Given the description of an element on the screen output the (x, y) to click on. 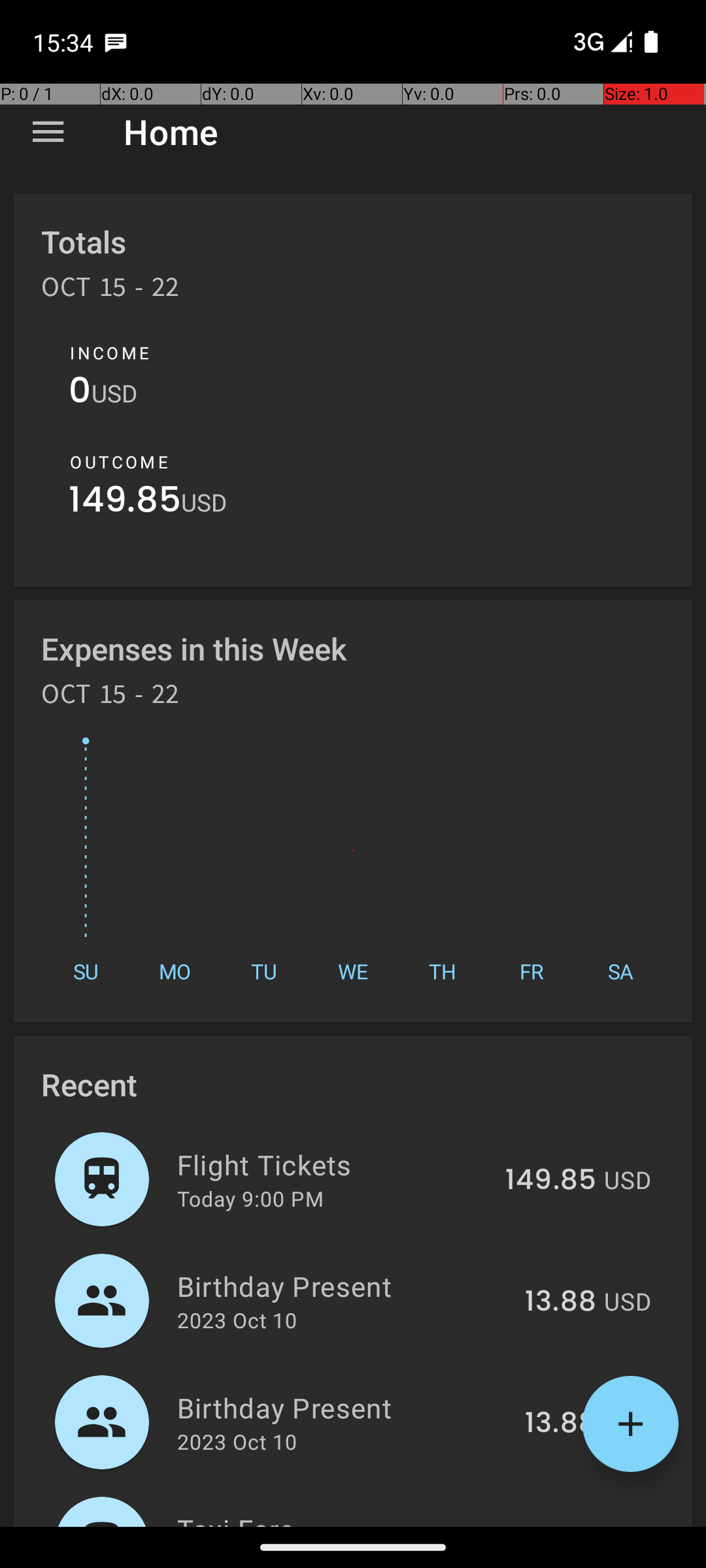
149.85 Element type: android.widget.TextView (124, 502)
Flight Tickets Element type: android.widget.TextView (333, 1164)
Today 9:00 PM Element type: android.widget.TextView (250, 1198)
Birthday Present Element type: android.widget.TextView (343, 1285)
2023 Oct 10 Element type: android.widget.TextView (236, 1320)
13.88 Element type: android.widget.TextView (560, 1301)
Taxi Fare Element type: android.widget.TextView (338, 1518)
148.31 Element type: android.widget.TextView (554, 1524)
